Given the description of an element on the screen output the (x, y) to click on. 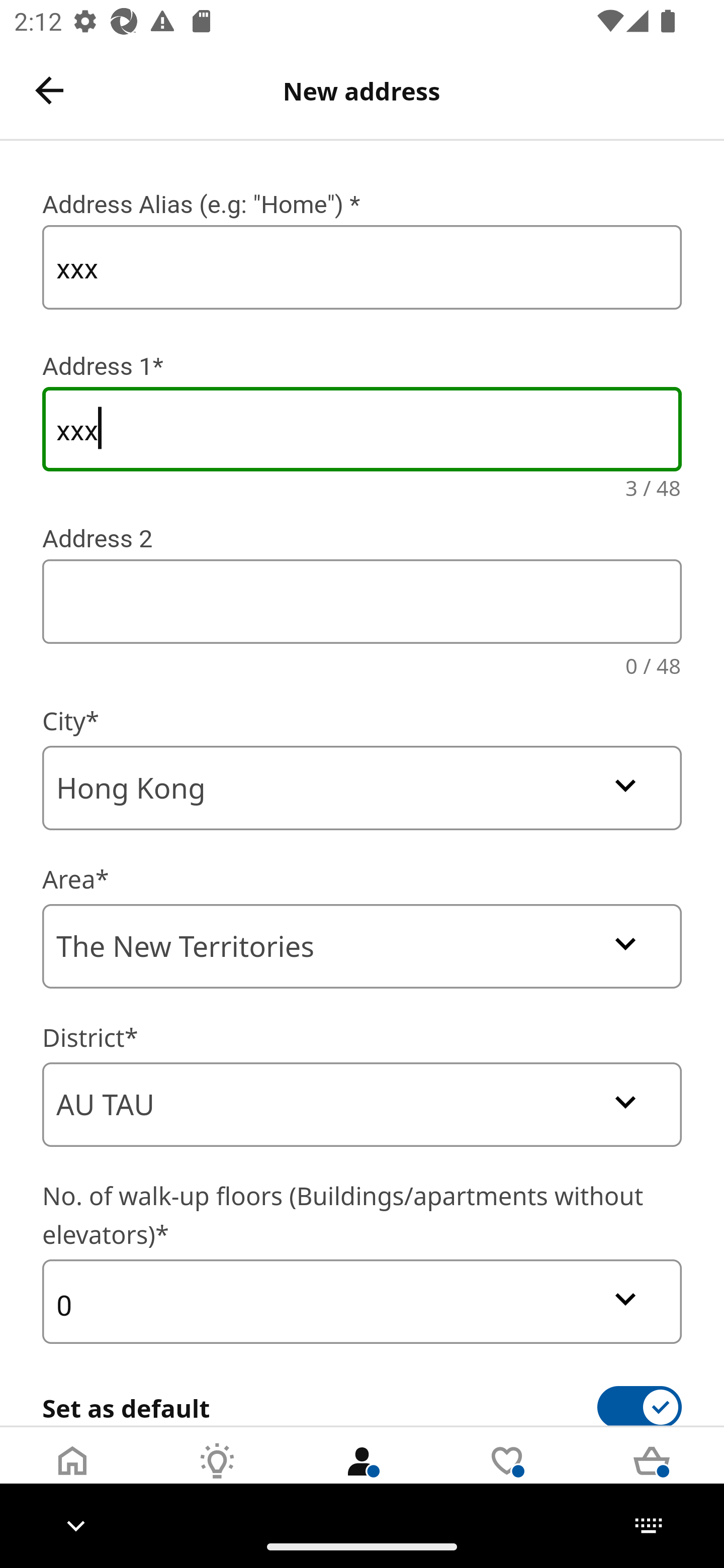
xxx (361, 266)
xxx (361, 429)
Hong Kong (361, 787)
The New Territories (361, 945)
AU TAU (361, 1104)
0 (361, 1301)
Home
Tab 1 of 5 (72, 1476)
Inspirations
Tab 2 of 5 (216, 1476)
User
Tab 3 of 5 (361, 1476)
Wishlist
Tab 4 of 5 (506, 1476)
Cart
Tab 5 of 5 (651, 1476)
